Given the description of an element on the screen output the (x, y) to click on. 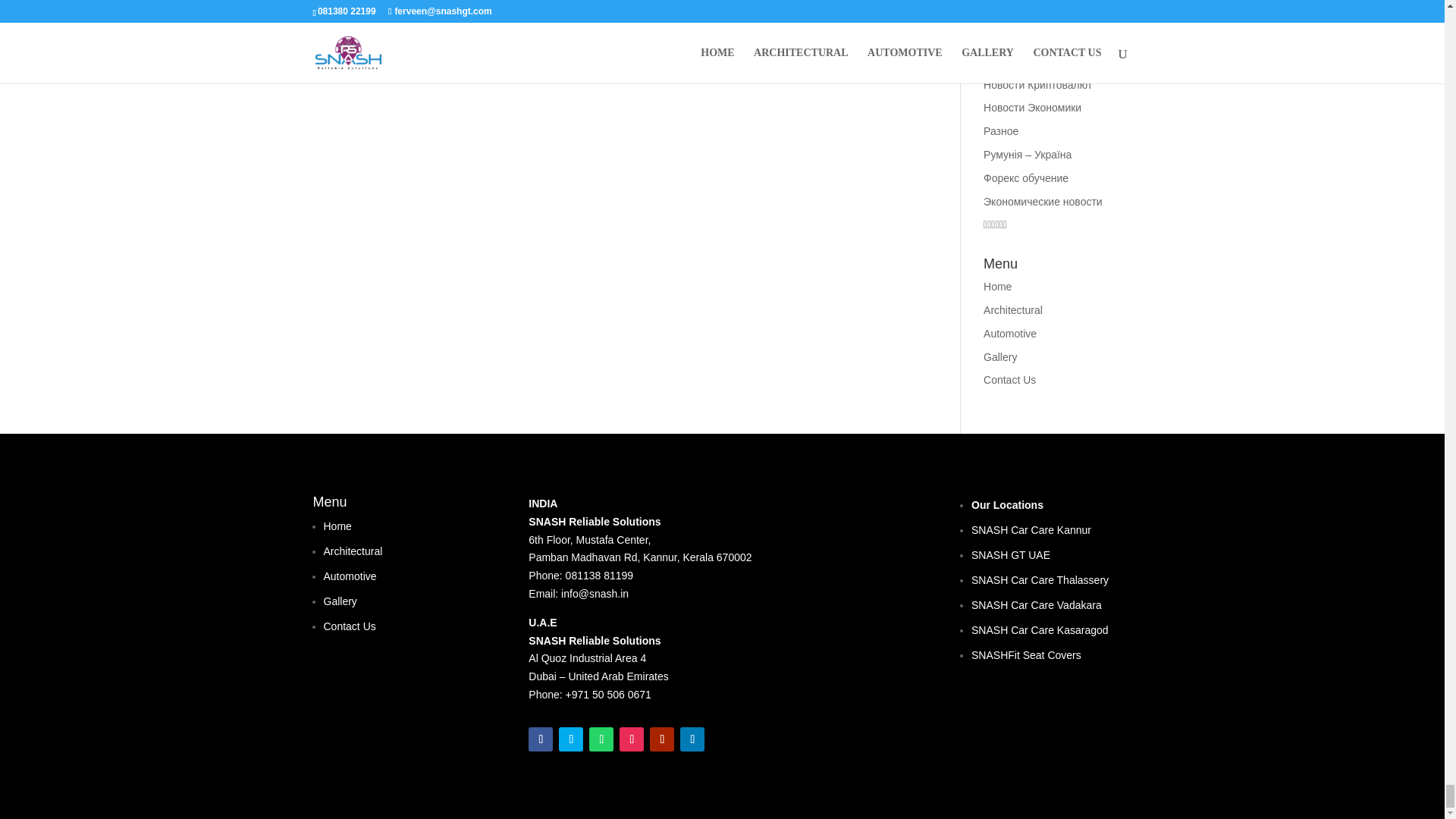
Follow on Youtube (661, 739)
Follow on Twitter (571, 739)
Follow on WhatsApp (600, 739)
Follow on Instagram (631, 739)
Follow on LinkedIn (691, 739)
Follow on Facebook (540, 739)
